Given the description of an element on the screen output the (x, y) to click on. 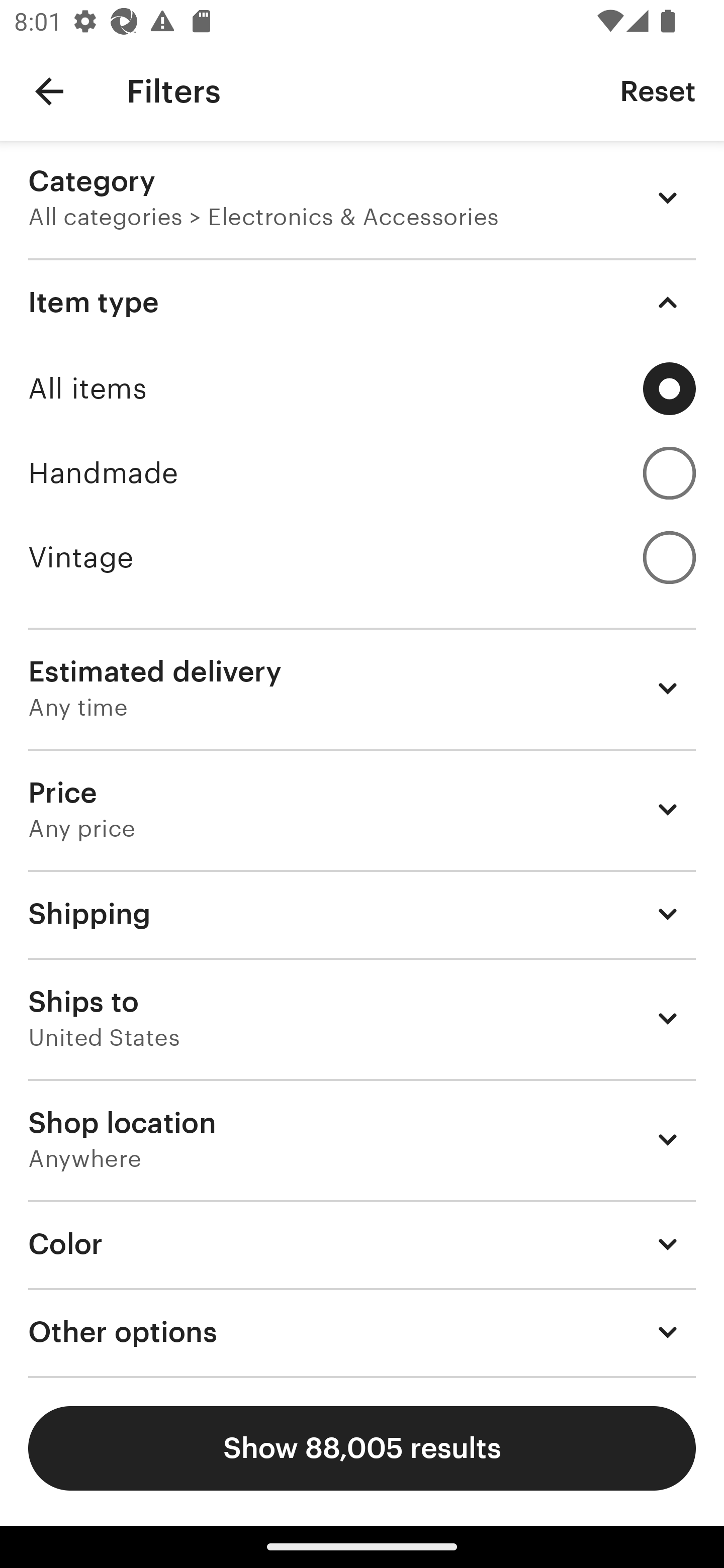
Navigate up (49, 91)
Reset (657, 90)
Item type (362, 302)
All items (362, 388)
Handmade (362, 473)
Vintage (362, 556)
Estimated delivery Any time (362, 688)
Price Any price (362, 809)
Shipping (362, 914)
Ships to United States (362, 1018)
Shop location Anywhere (362, 1138)
Color (362, 1243)
Other options (362, 1331)
Show 88,005 results Show results (361, 1448)
